Given the description of an element on the screen output the (x, y) to click on. 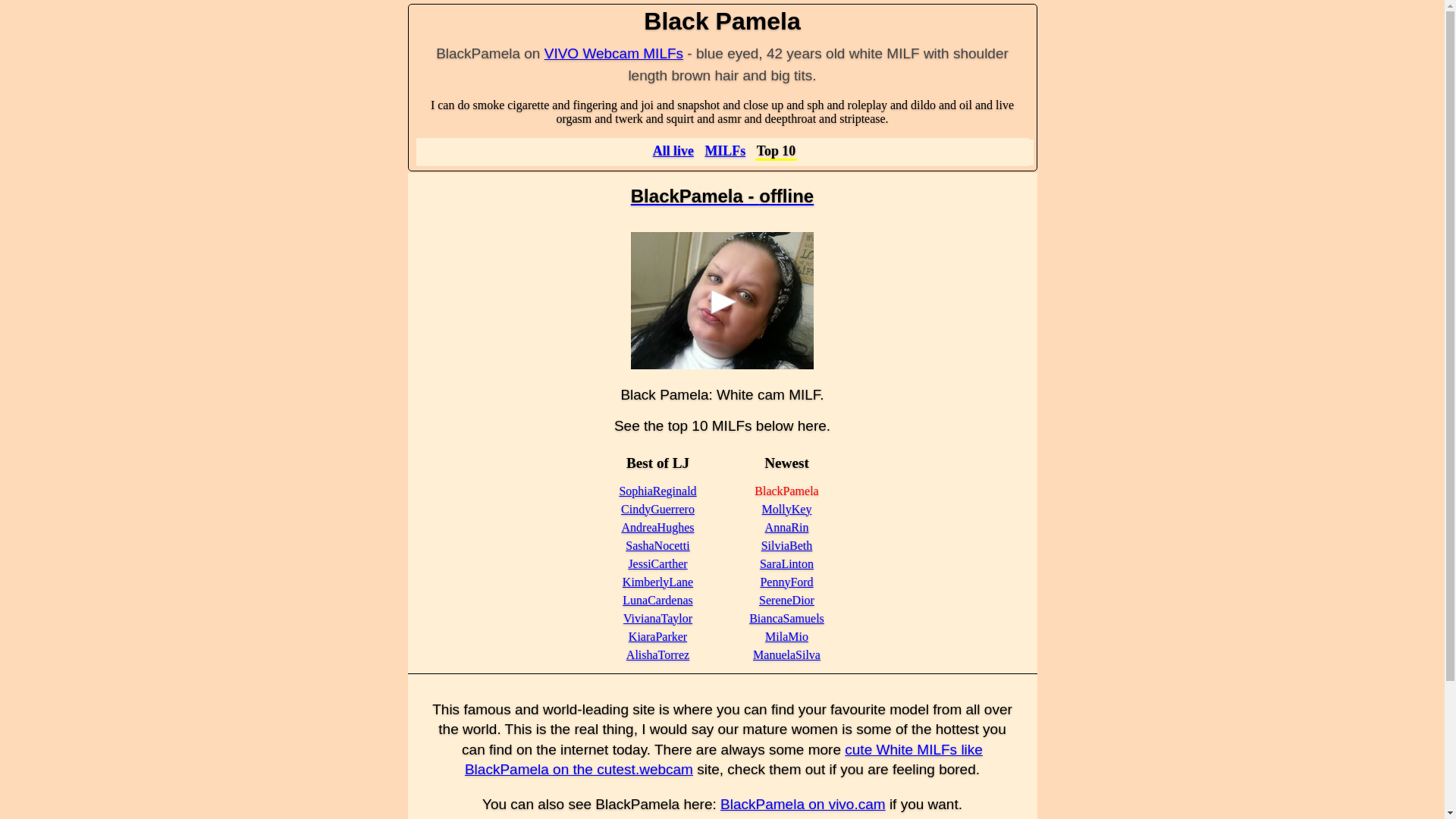
AndreaHughes (657, 526)
SilviaBeth (786, 545)
BlackPamela on vivo.cam (802, 804)
KimberlyLane (658, 581)
CindyGuerrero (657, 508)
VivianaTaylor (658, 617)
all MILFs online now. (724, 150)
KiaraParker (657, 635)
LunaCardenas (658, 599)
PennyFord (786, 581)
AnnaRin (787, 526)
BlackPamela - offline (721, 196)
JessiCarther (657, 563)
MilaMio (786, 635)
MollyKey (786, 508)
